Given the description of an element on the screen output the (x, y) to click on. 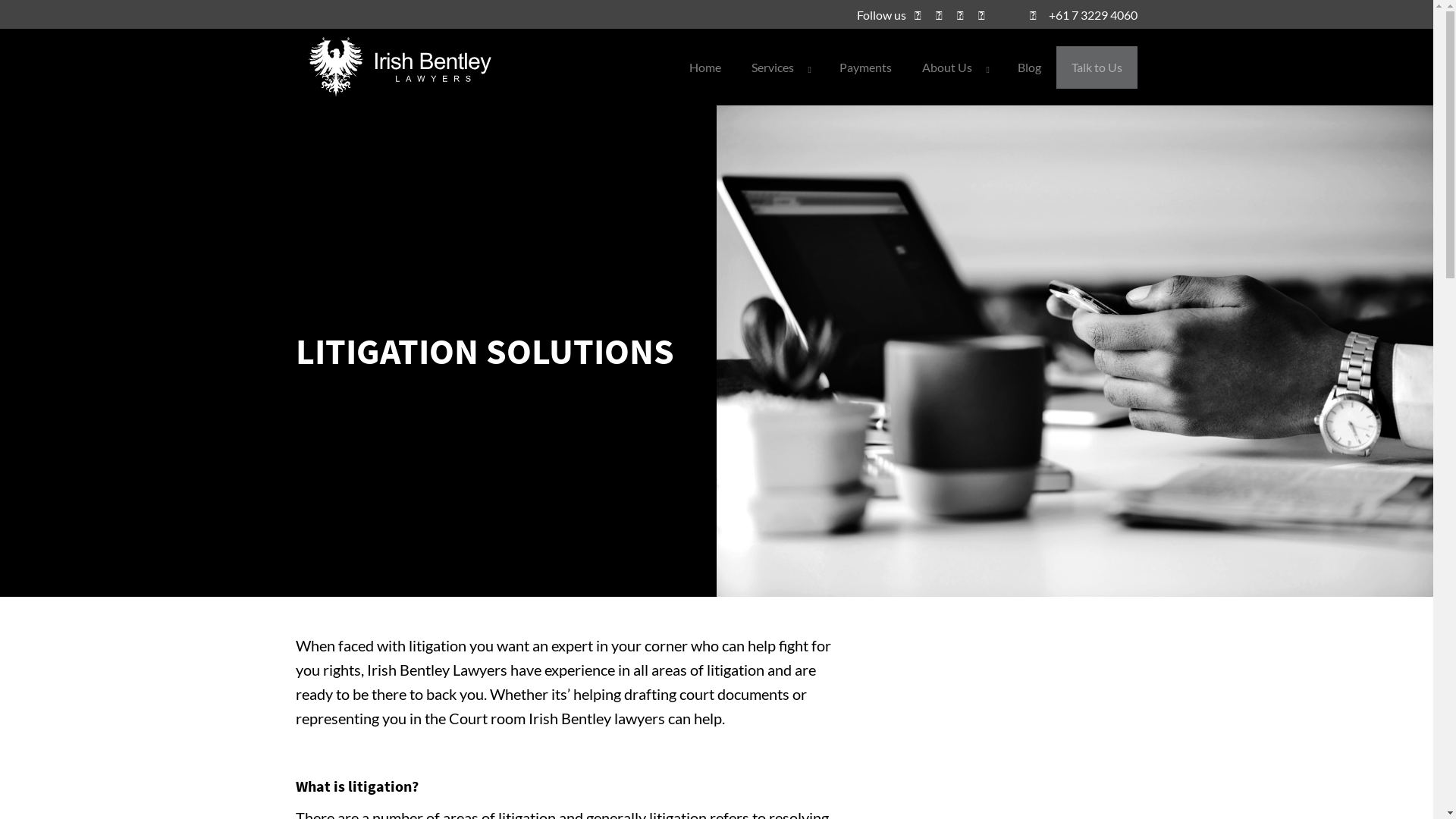
Services Element type: text (780, 66)
Blog Element type: text (1029, 66)
Payments Element type: text (865, 66)
Home Element type: text (705, 66)
About Us Element type: text (954, 66)
Talk to Us Element type: text (1096, 66)
+61 7 3229 4060 Element type: text (1083, 14)
